Given the description of an element on the screen output the (x, y) to click on. 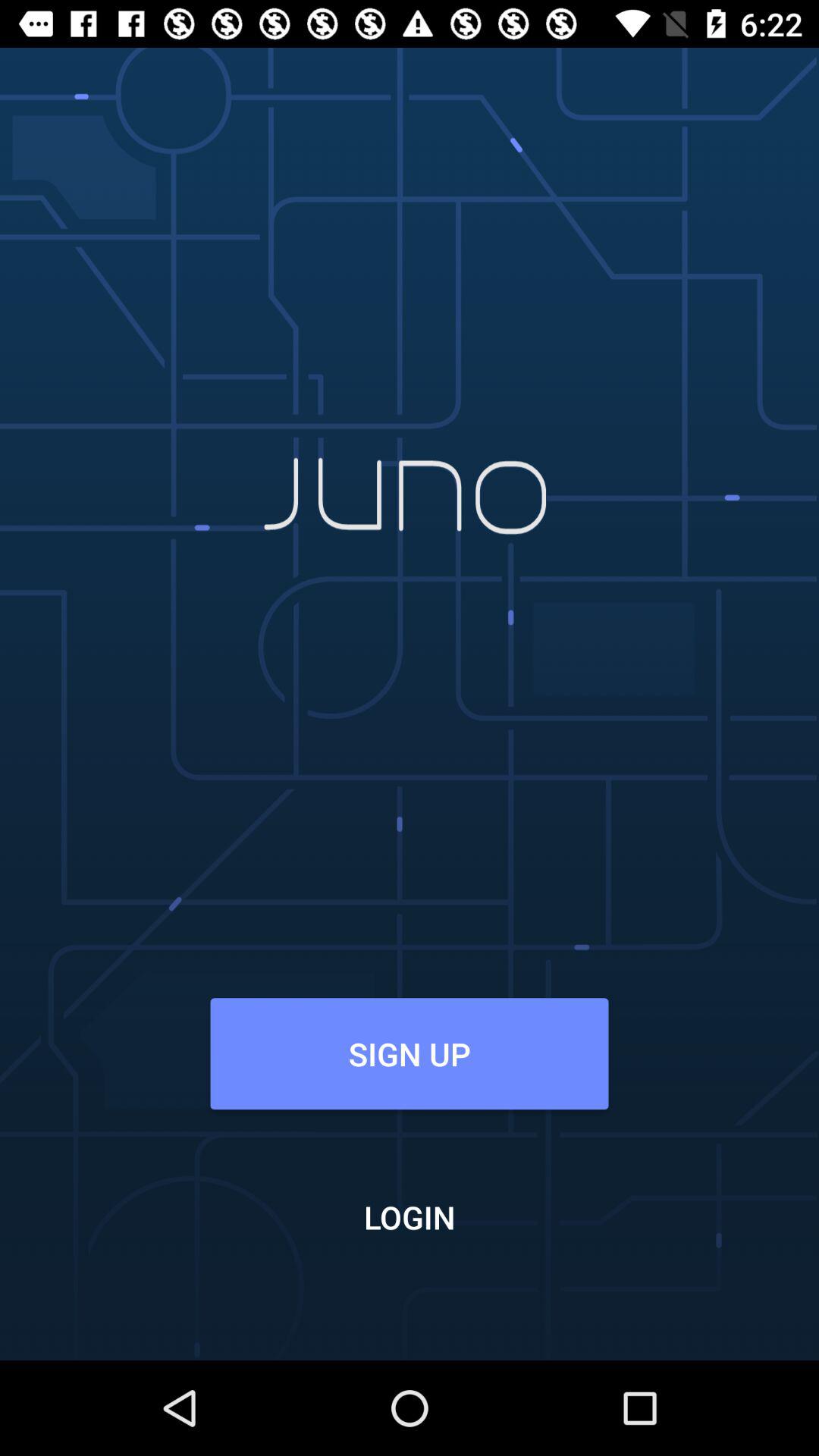
scroll until the sign up item (409, 1053)
